Given the description of an element on the screen output the (x, y) to click on. 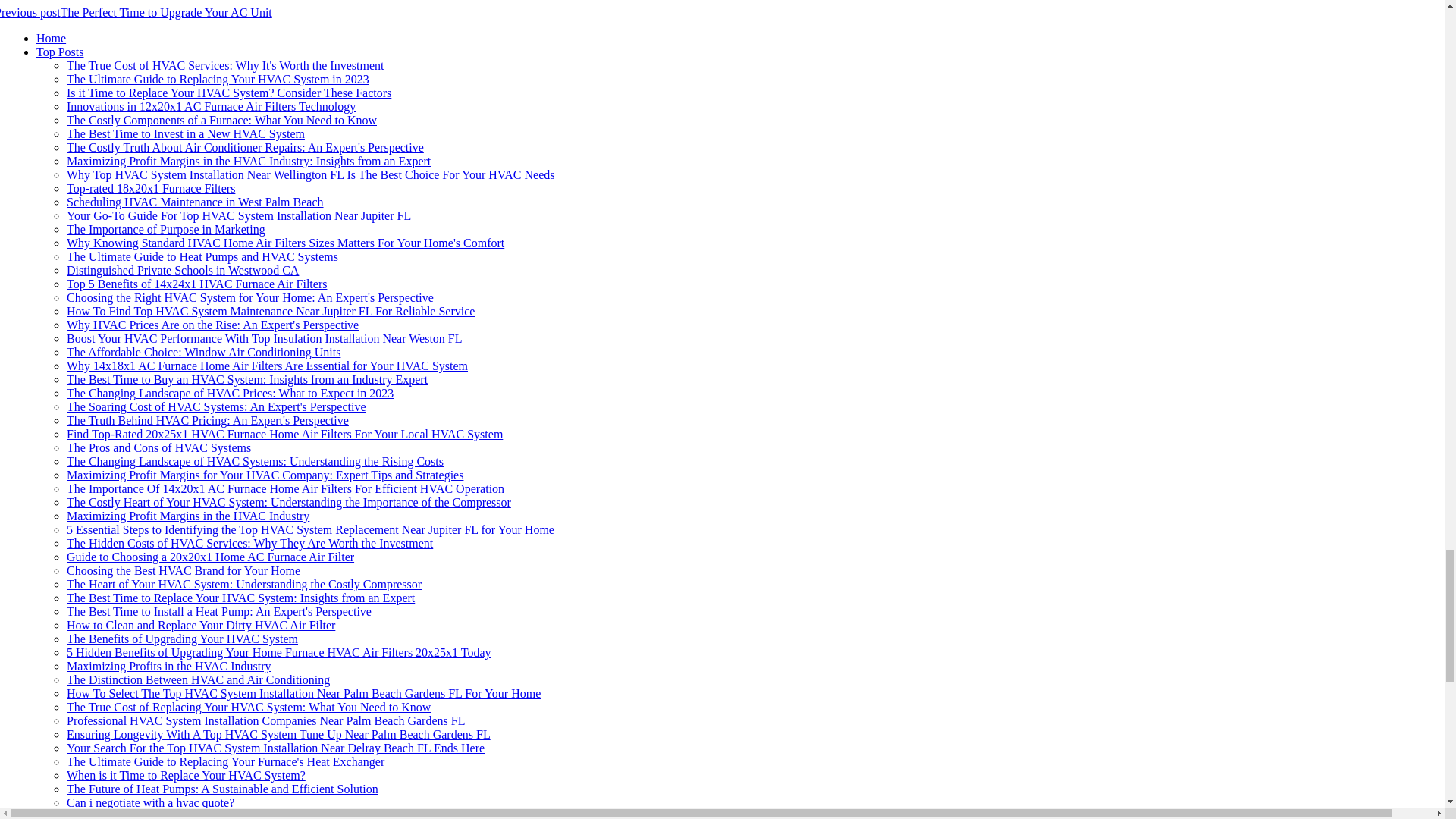
The Ultimate Guide to Replacing Your HVAC System in 2023 (217, 78)
The Importance of Purpose in Marketing (165, 228)
Previous postThe Perfect Time to Upgrade Your AC Unit (136, 11)
The Costly Components of a Furnace: What You Need to Know (221, 119)
The Ultimate Guide to Heat Pumps and HVAC Systems (201, 256)
The Best Time to Invest in a New HVAC System (185, 133)
Scheduling HVAC Maintenance in West Palm Beach (194, 201)
